Given the description of an element on the screen output the (x, y) to click on. 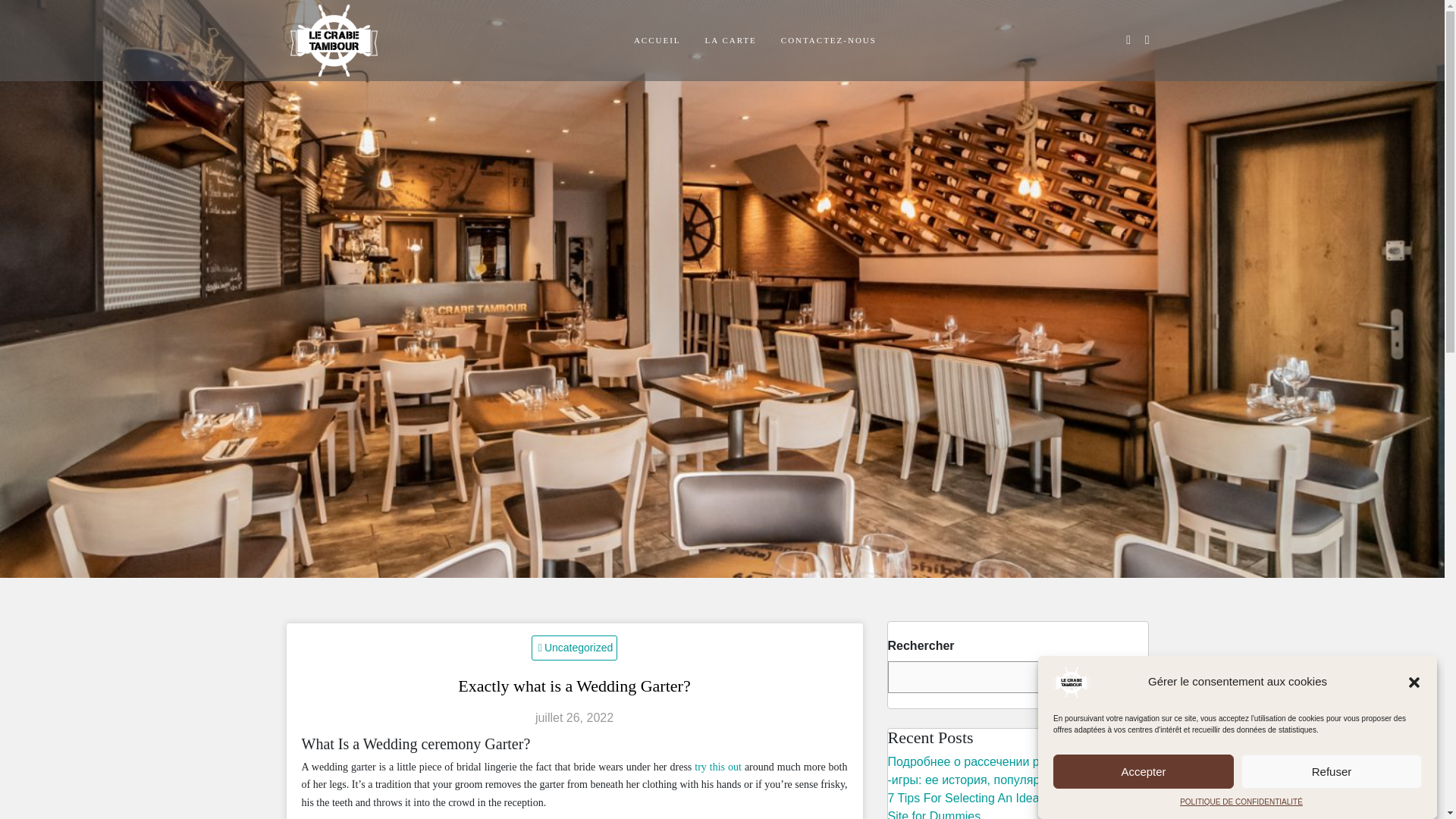
CONTACTEZ-NOUS (828, 40)
Uncategorized (574, 647)
try this out (717, 767)
LA CARTE (730, 40)
Rechercher (1108, 676)
ACCUEIL (657, 40)
